Given the description of an element on the screen output the (x, y) to click on. 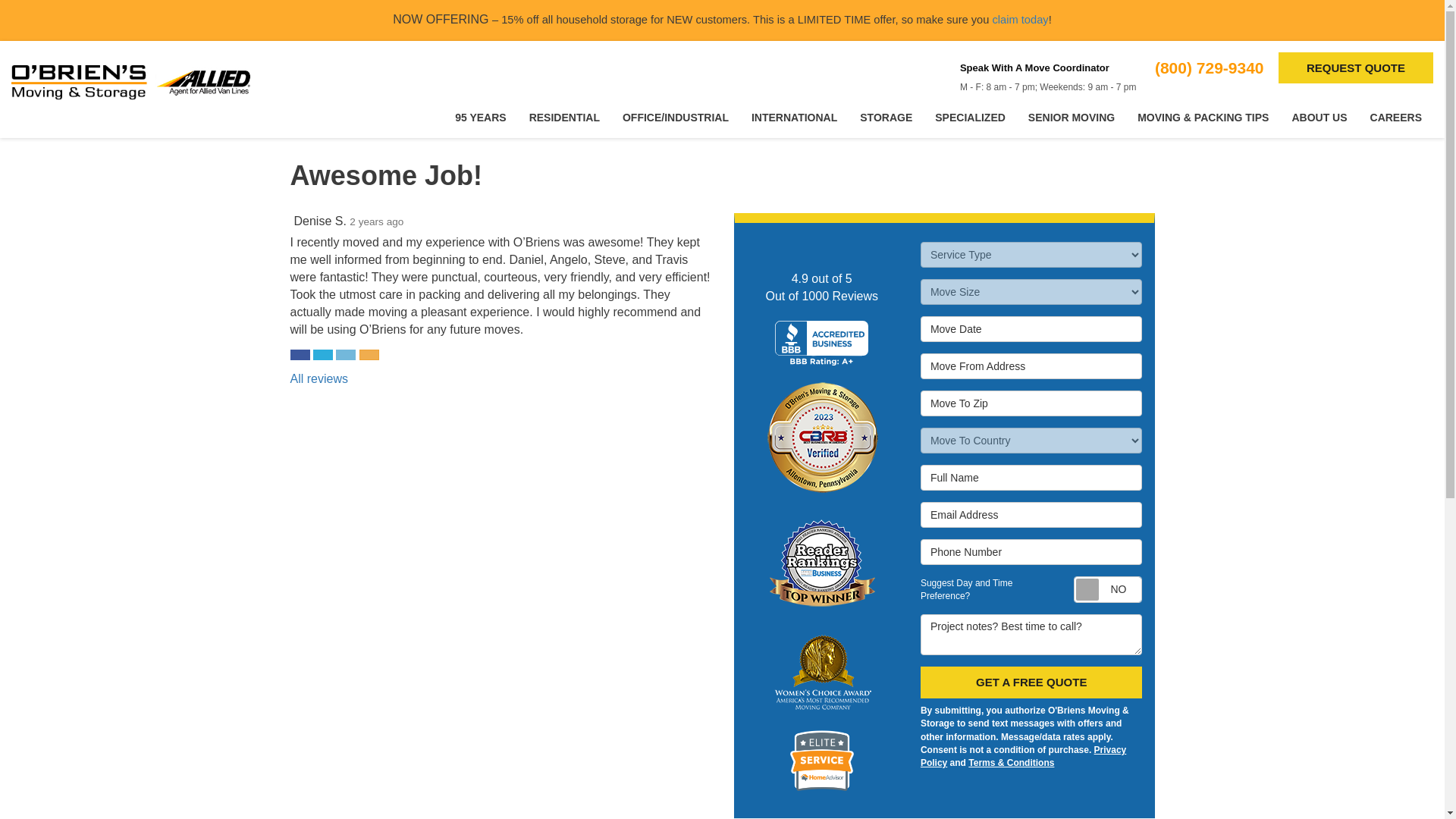
SPECIALIZED (969, 118)
RESIDENTIAL (564, 118)
STORAGE (885, 118)
INTERNATIONAL (793, 118)
REQUEST QUOTE (1355, 67)
claim today (1019, 19)
REQUEST QUOTE (1355, 67)
95 YEARS (480, 118)
SENIOR MOVING (1070, 118)
